Given the description of an element on the screen output the (x, y) to click on. 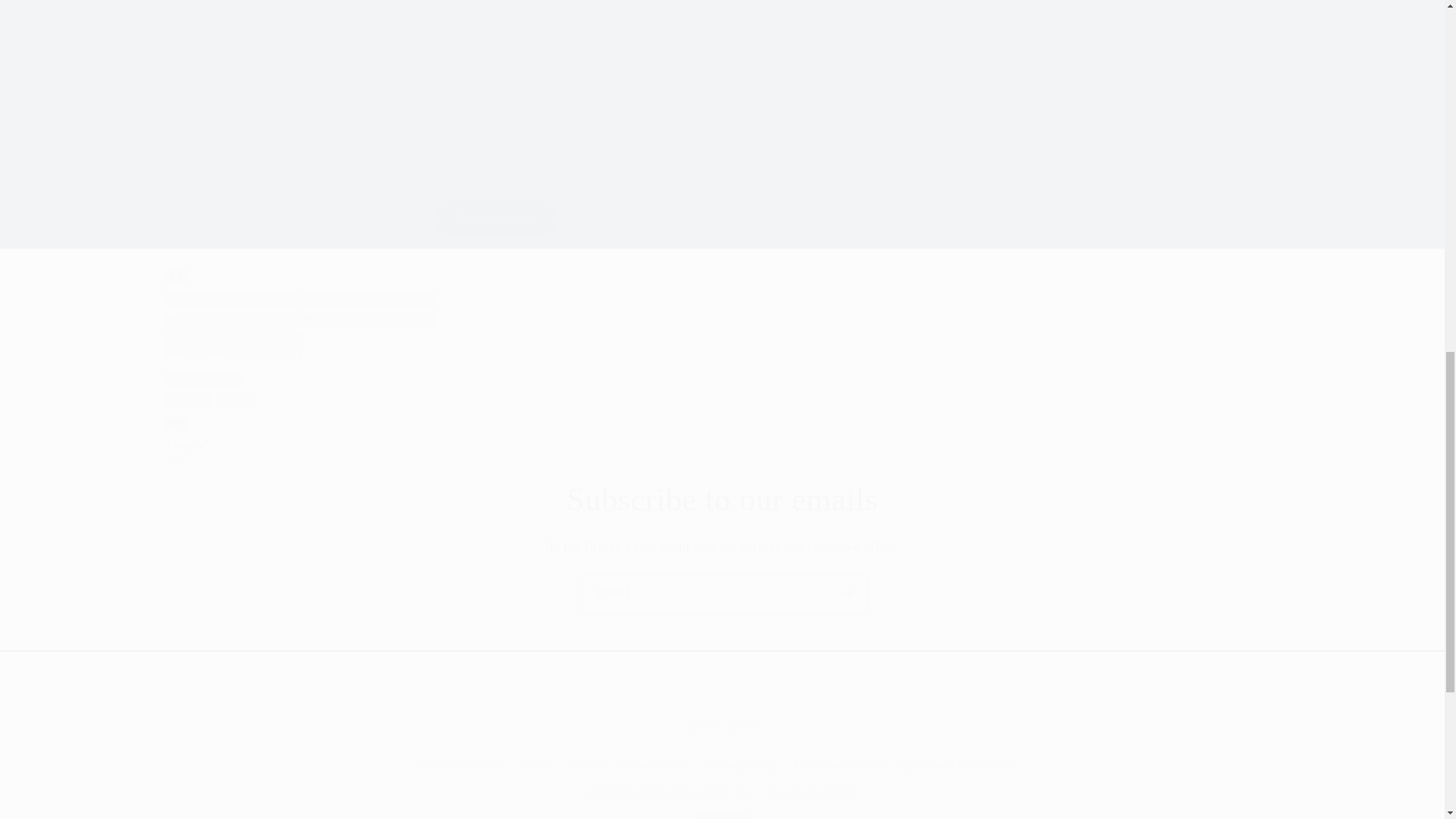
Sign Up (188, 400)
Post comment (494, 217)
Email (722, 592)
Post comment (203, 378)
Subscribe to our emails (722, 499)
